Given the description of an element on the screen output the (x, y) to click on. 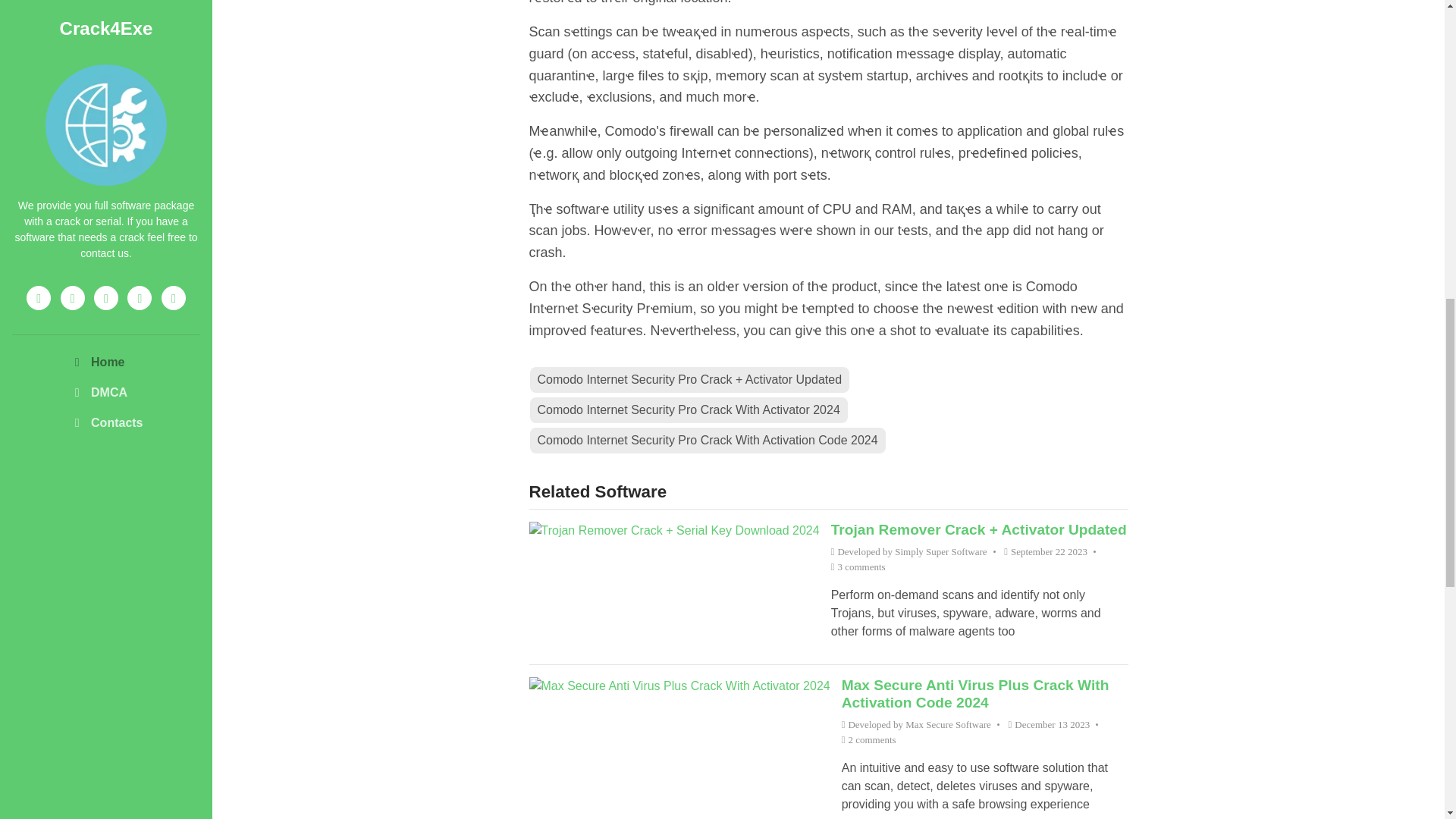
Max Secure Anti Virus Plus Crack With Activation Code 2024 (975, 693)
